Given the description of an element on the screen output the (x, y) to click on. 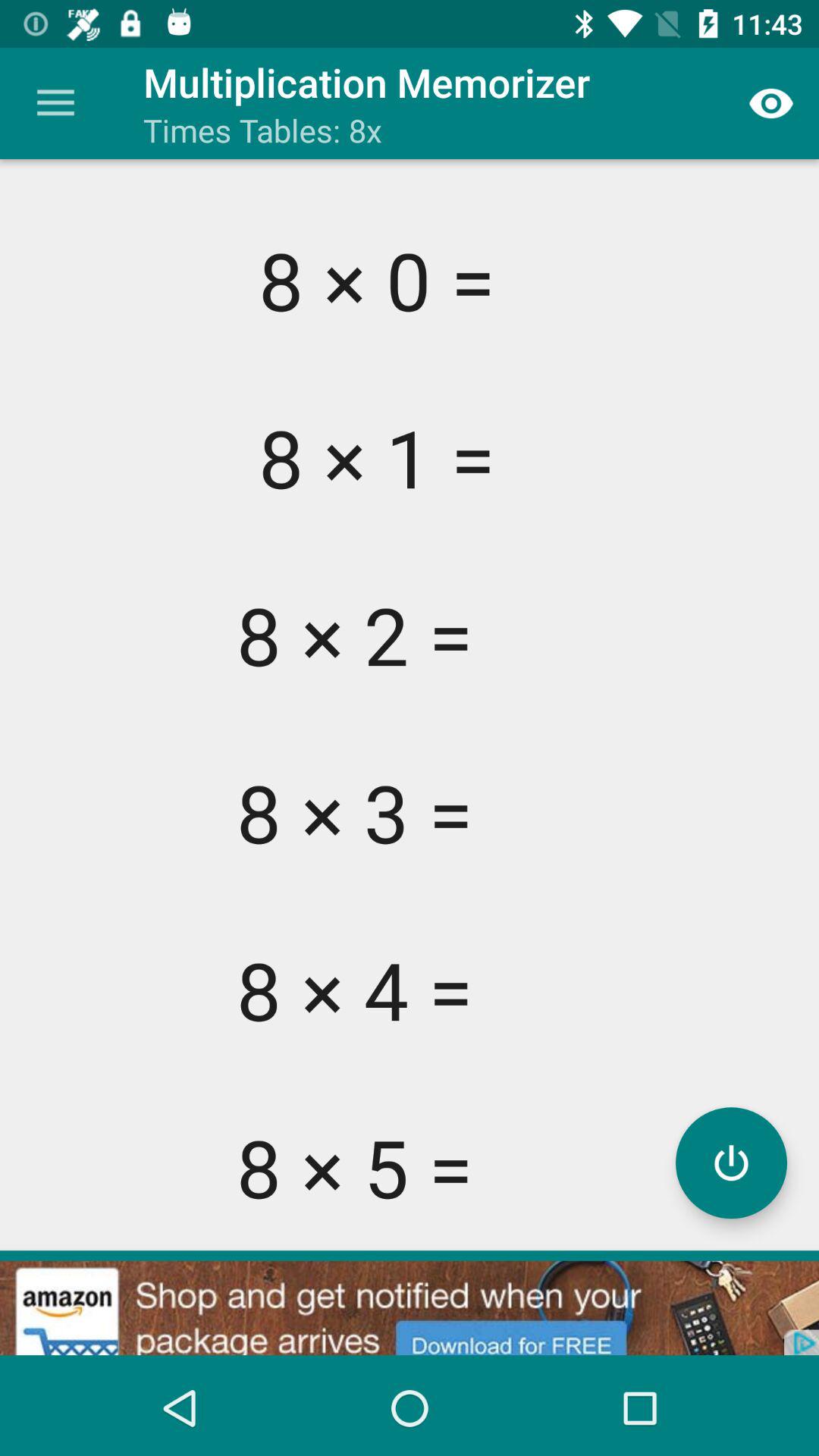
turn on/off (731, 1162)
